Given the description of an element on the screen output the (x, y) to click on. 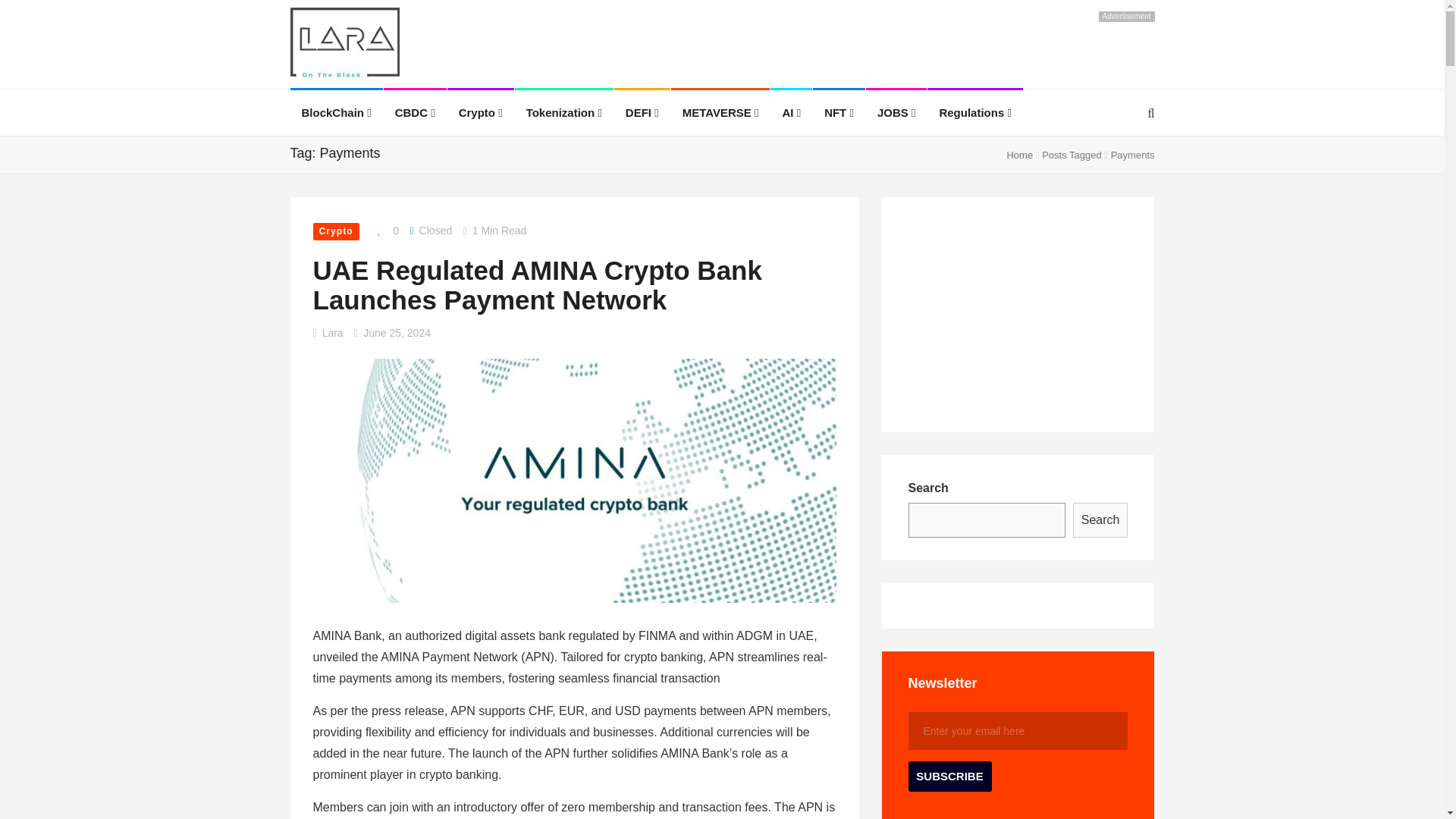
Crypto (480, 112)
LARA on the Block (343, 45)
BlockChain (336, 112)
METAVERSE (720, 112)
Like this (383, 230)
METAVERSE (720, 112)
Crypto (480, 112)
Commercial Bank of Dubai opens up to VASPs in UAE (20, 302)
BlockChain (336, 112)
Subscribe (949, 776)
Regulations (975, 112)
Tokenization (563, 112)
Tokenization (563, 112)
